Given the description of an element on the screen output the (x, y) to click on. 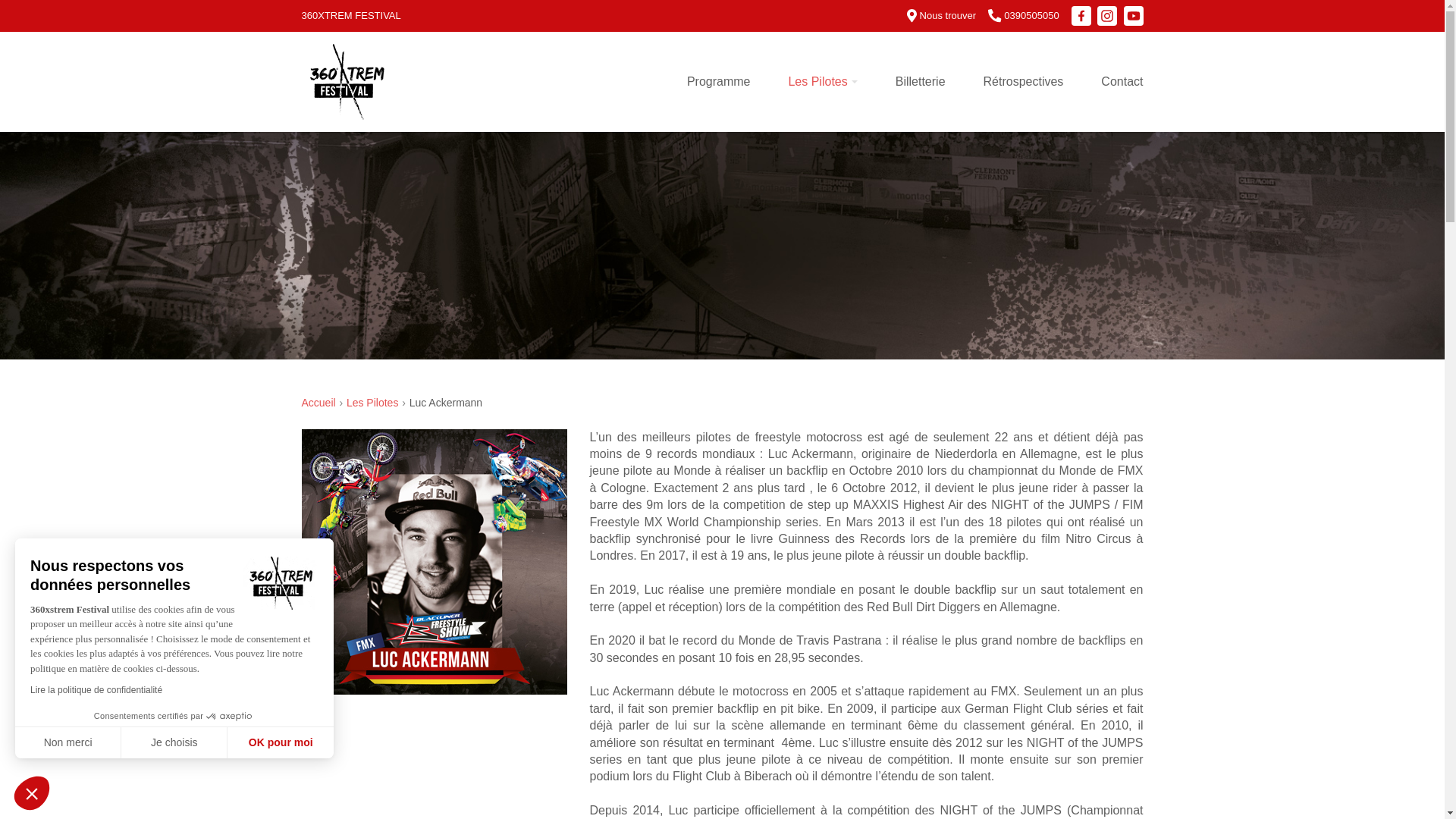
Contact Element type: text (1112, 81)
Fermer le widget sans consentement Element type: hover (31, 793)
Billetterie Element type: text (920, 81)
Je choisis Element type: text (174, 742)
Instagram Element type: hover (1107, 15)
Facebook Element type: hover (1081, 15)
OK pour moi Element type: text (280, 742)
Les Pilotes Element type: text (821, 81)
Nous trouver Element type: text (940, 15)
Les Pilotes Element type: text (372, 402)
Accueil Element type: text (318, 402)
Programme Element type: text (728, 81)
0390505050 Element type: text (1023, 15)
Non merci Element type: text (68, 742)
Youtube Element type: hover (1133, 15)
